Given the description of an element on the screen output the (x, y) to click on. 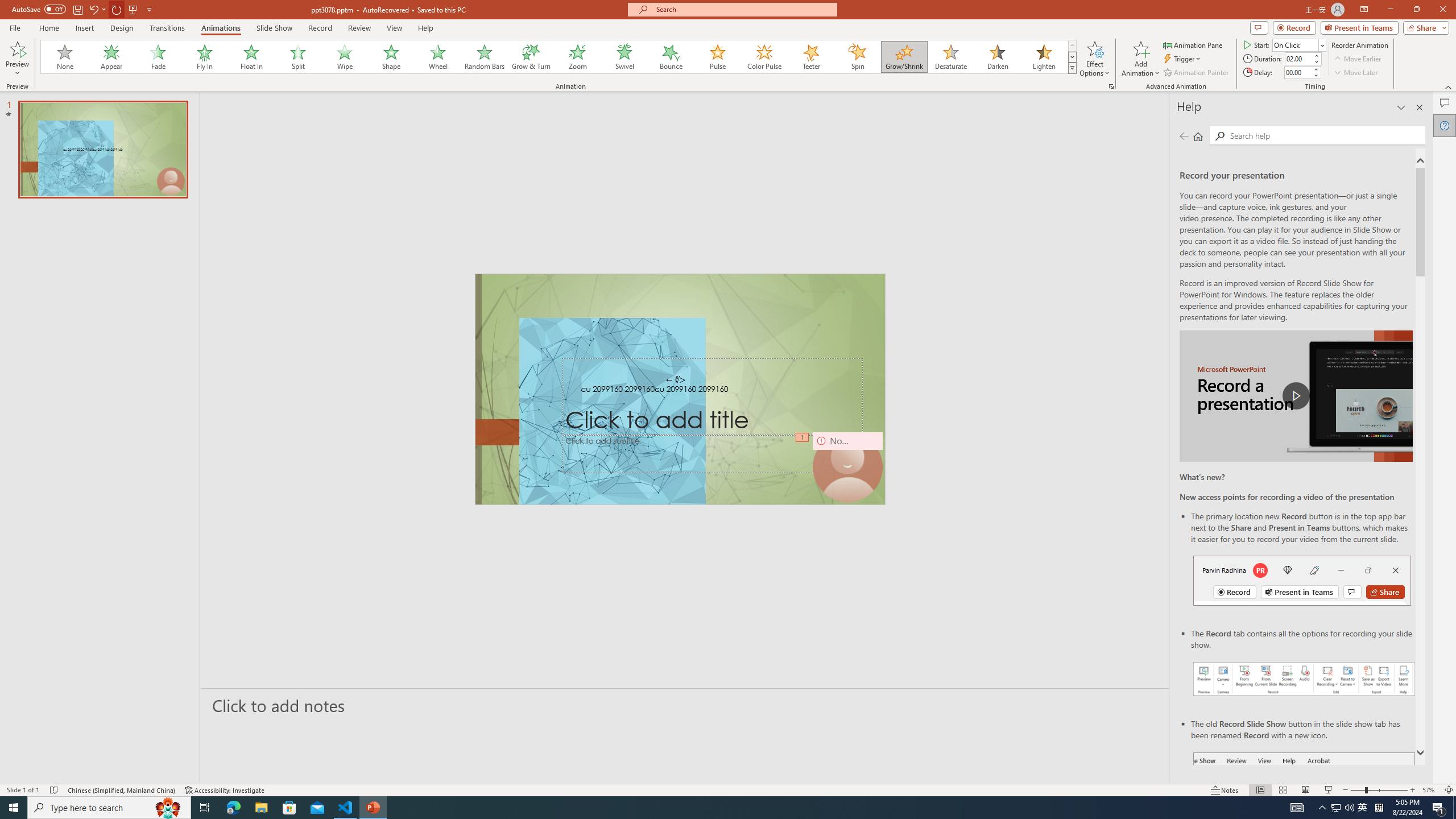
Animation Styles (1071, 67)
Animation Duration (1298, 58)
Spin (857, 56)
